Given the description of an element on the screen output the (x, y) to click on. 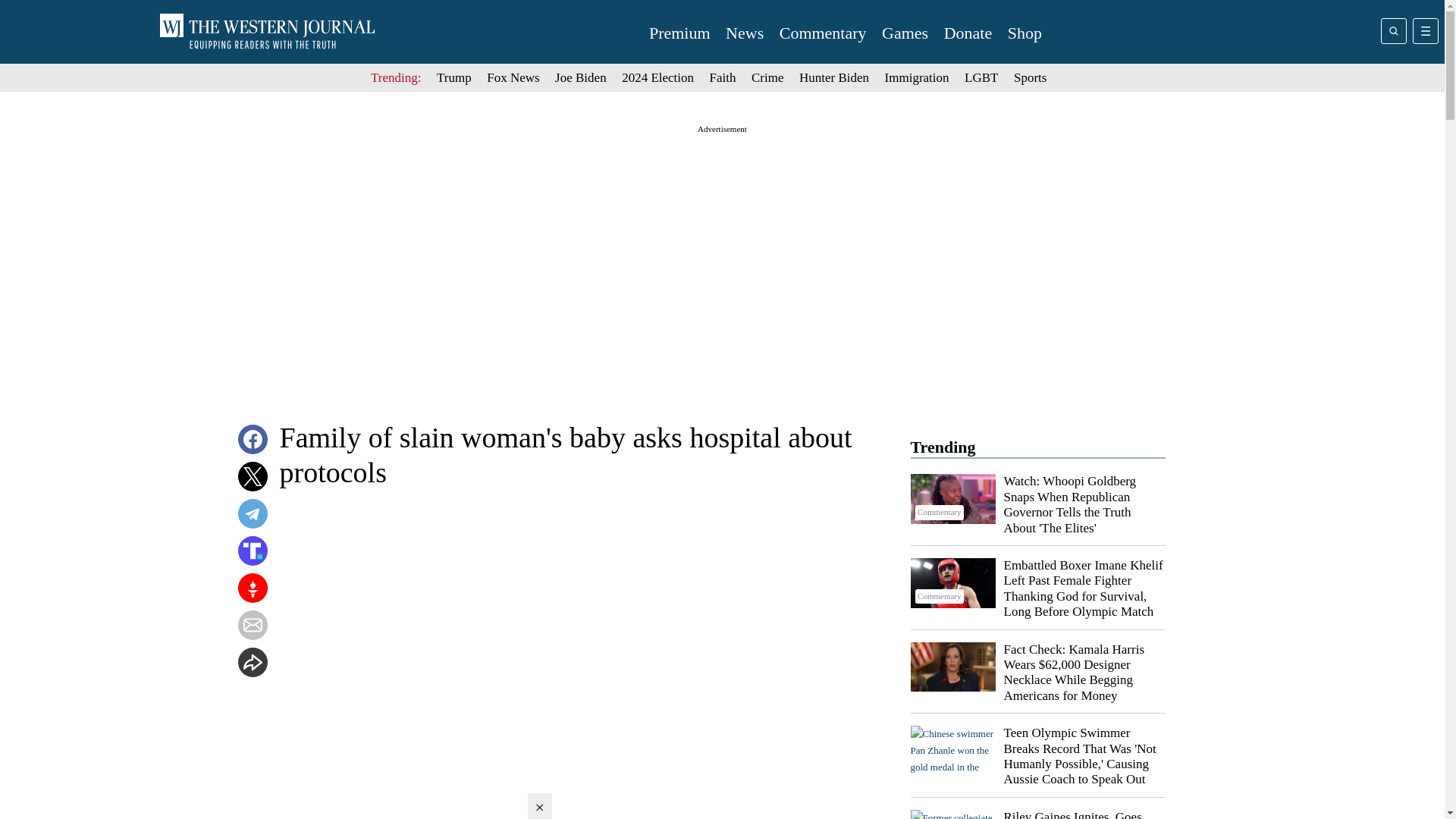
Donate (967, 32)
News (743, 32)
Immigration (917, 77)
Premium (679, 32)
Games (905, 32)
Commentary (822, 32)
Sports (1029, 77)
Commentary (952, 582)
2024 Election (657, 77)
LGBT (980, 77)
Hunter Biden (834, 77)
Faith (723, 77)
Commentary (952, 814)
